Given the description of an element on the screen output the (x, y) to click on. 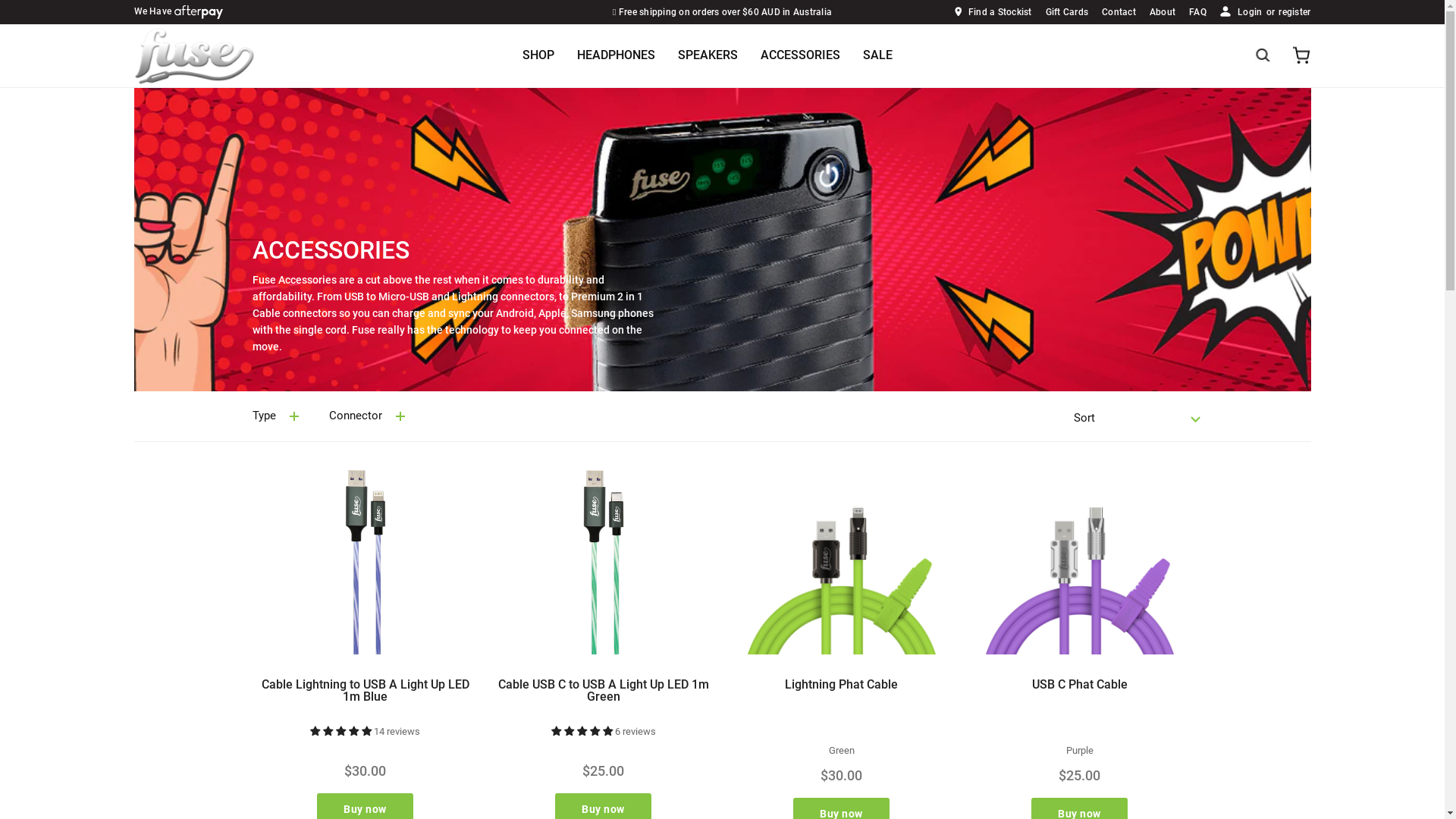
SALE Element type: text (877, 55)
register Element type: text (1293, 12)
USB C Phat Cable Element type: text (1078, 684)
FAQ Element type: text (1197, 11)
Cable Lightning to USB A Light Up LED 1m Blue Element type: text (364, 690)
ACCESSORIES Element type: text (800, 54)
HEADPHONES Element type: text (616, 54)
Gift Cards Element type: text (1066, 11)
Cable USB C to USB A Light Up LED 1m Green Element type: text (602, 690)
Find a Stockist Element type: text (991, 11)
Lightning Phat Cable Element type: text (840, 684)
SHOP Element type: text (538, 54)
About Element type: text (1162, 11)
SPEAKERS Element type: text (707, 55)
Login Element type: text (1249, 12)
Contact Element type: text (1118, 11)
